Given the description of an element on the screen output the (x, y) to click on. 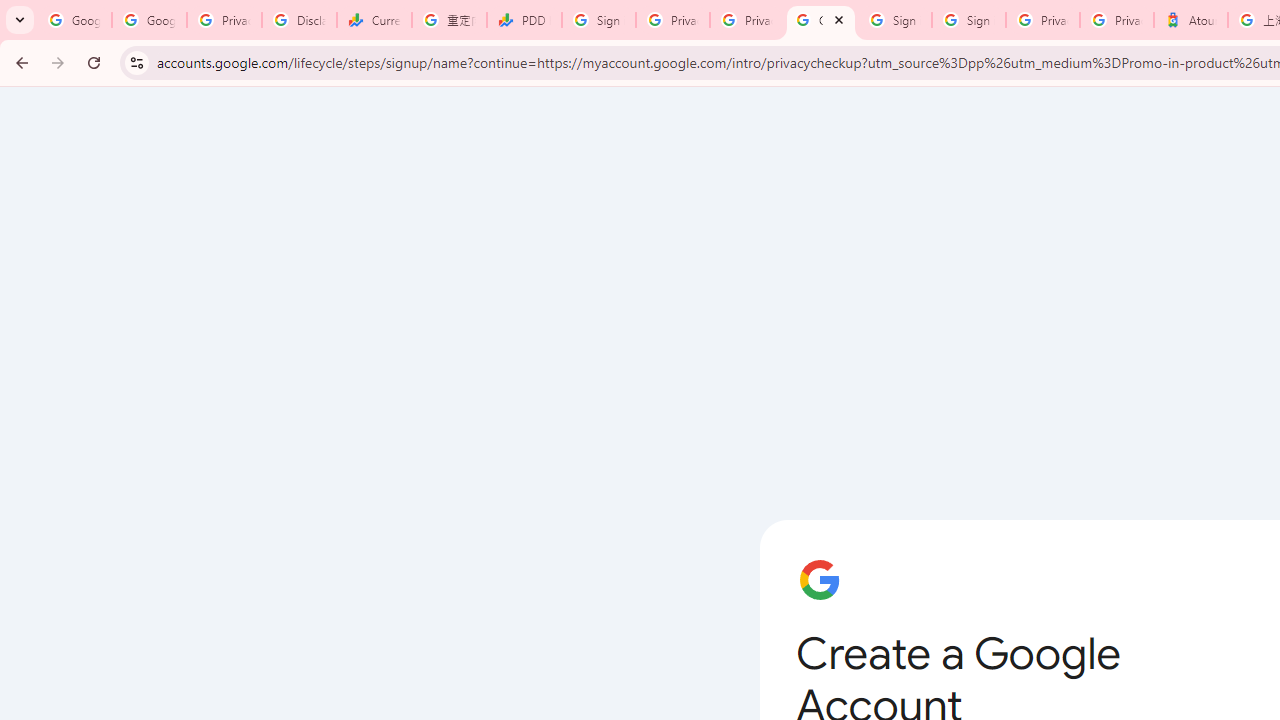
View site information (136, 62)
Close (838, 19)
Reload (93, 62)
Sign in - Google Accounts (894, 20)
Sign in - Google Accounts (968, 20)
Currencies - Google Finance (374, 20)
Back (19, 62)
Create your Google Account (820, 20)
Privacy Checkup (747, 20)
Sign in - Google Accounts (598, 20)
Search tabs (20, 20)
